Given the description of an element on the screen output the (x, y) to click on. 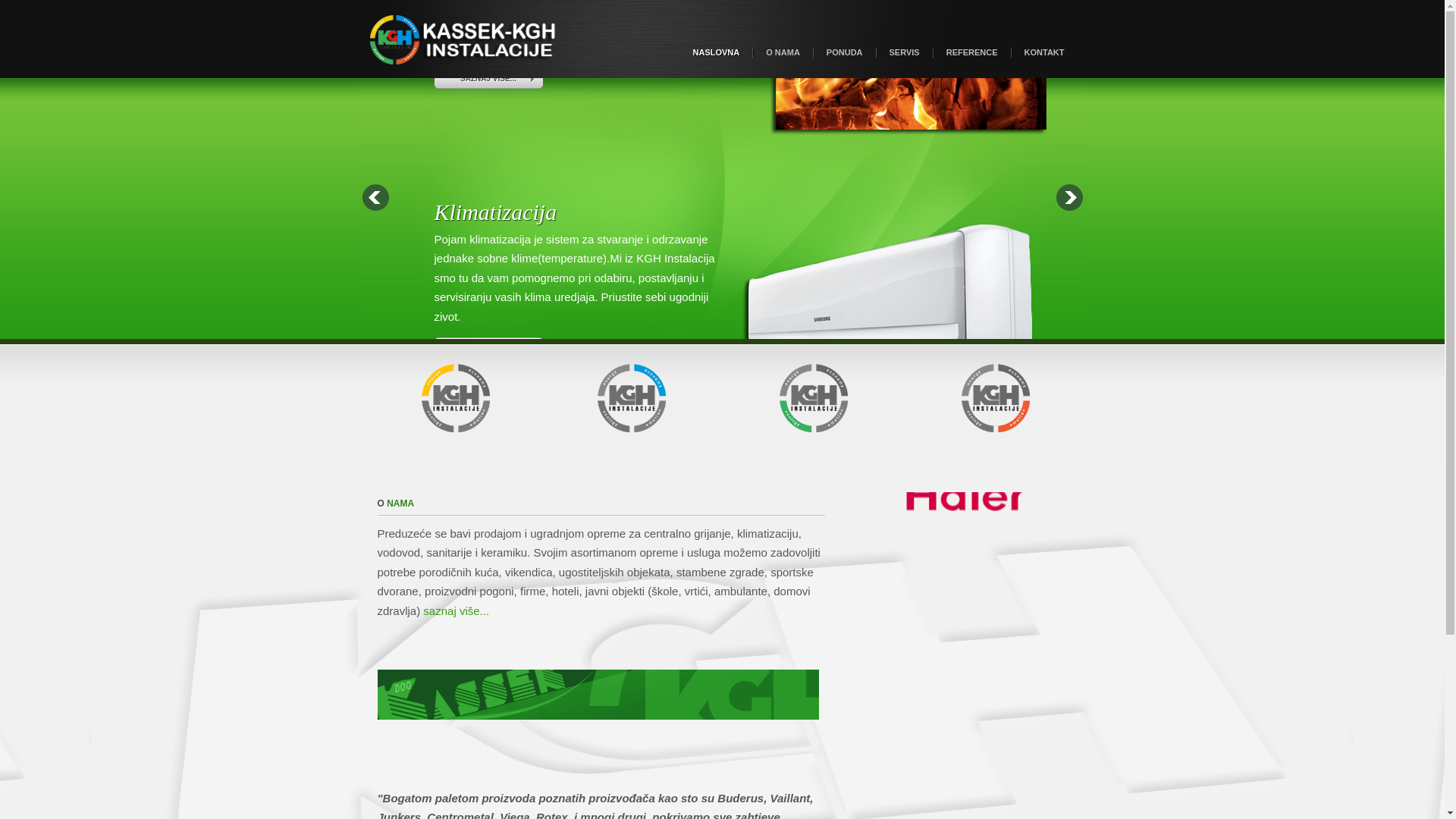
NASLOVNA Element type: text (716, 52)
KONTAKT Element type: text (1044, 52)
REFERENCE Element type: text (972, 52)
SERVIS Element type: text (904, 52)
Grijanje Element type: text (472, 112)
PONUDA Element type: text (844, 52)
O NAMA Element type: text (782, 52)
